Given the description of an element on the screen output the (x, y) to click on. 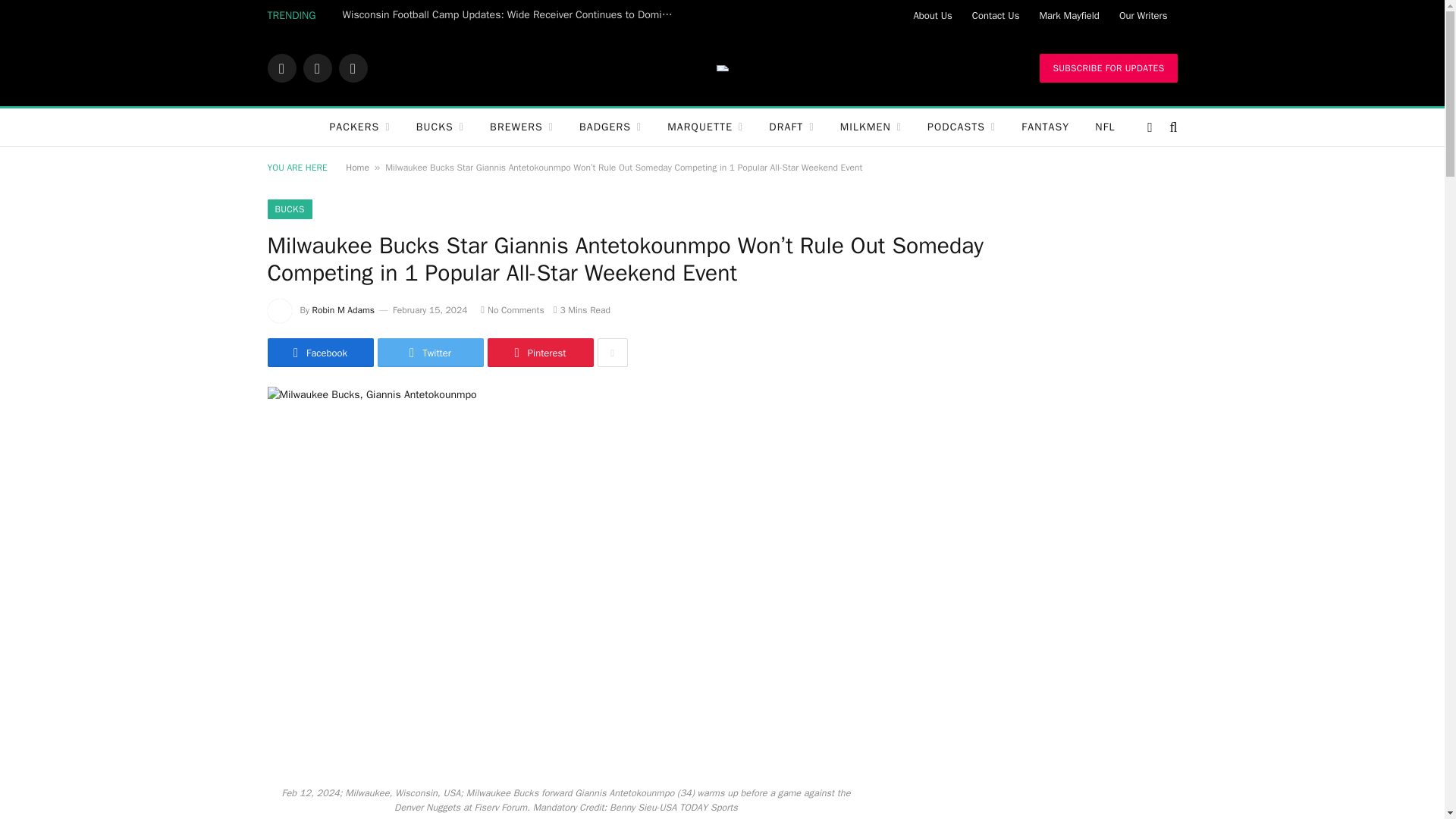
BUCKS (440, 127)
Posts by Robin M Adams (343, 309)
Mark Mayfield (1068, 15)
BREWERS (521, 127)
SUBSCRIBE FOR UPDATES (1107, 68)
Search (1171, 127)
RSS (351, 68)
Contact Us (995, 15)
Our Writers (1143, 15)
WI Sports Heroics (722, 68)
About Us (931, 15)
Switch to Dark Design - easier on eyes. (1149, 127)
Facebook (280, 68)
